Given the description of an element on the screen output the (x, y) to click on. 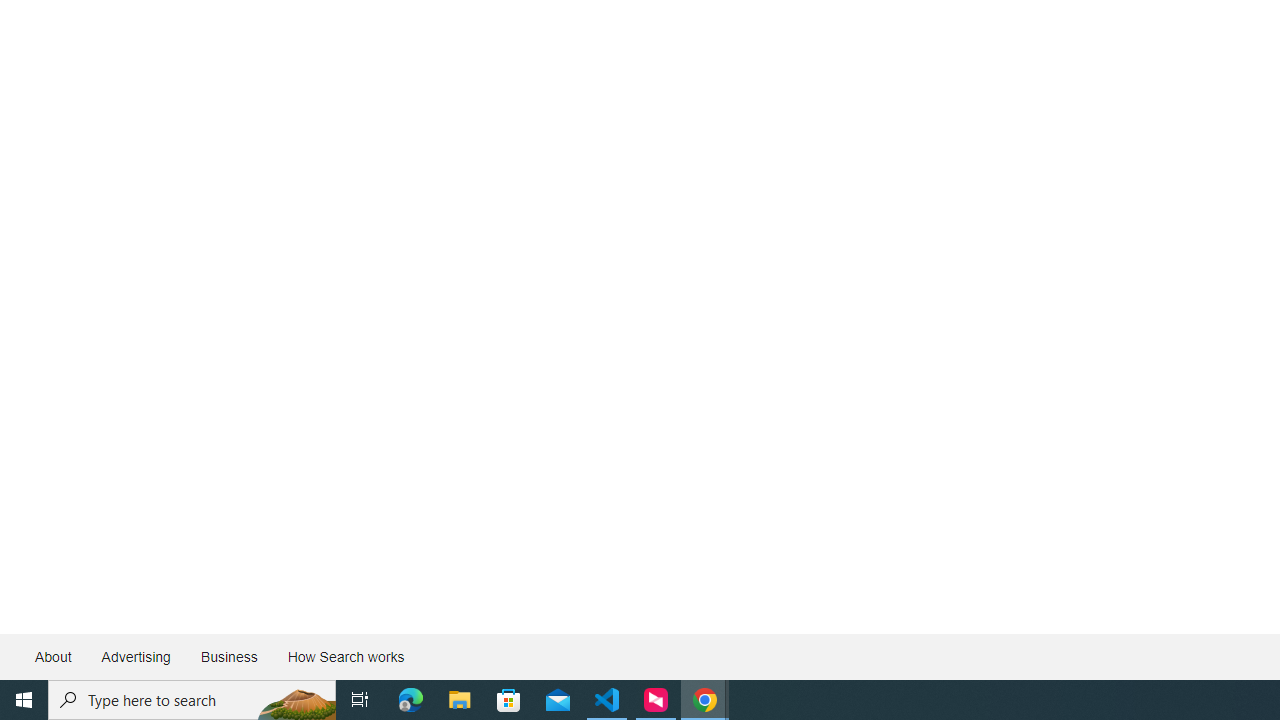
Business (228, 656)
How Search works (345, 656)
Advertising (135, 656)
About (53, 656)
